Given the description of an element on the screen output the (x, y) to click on. 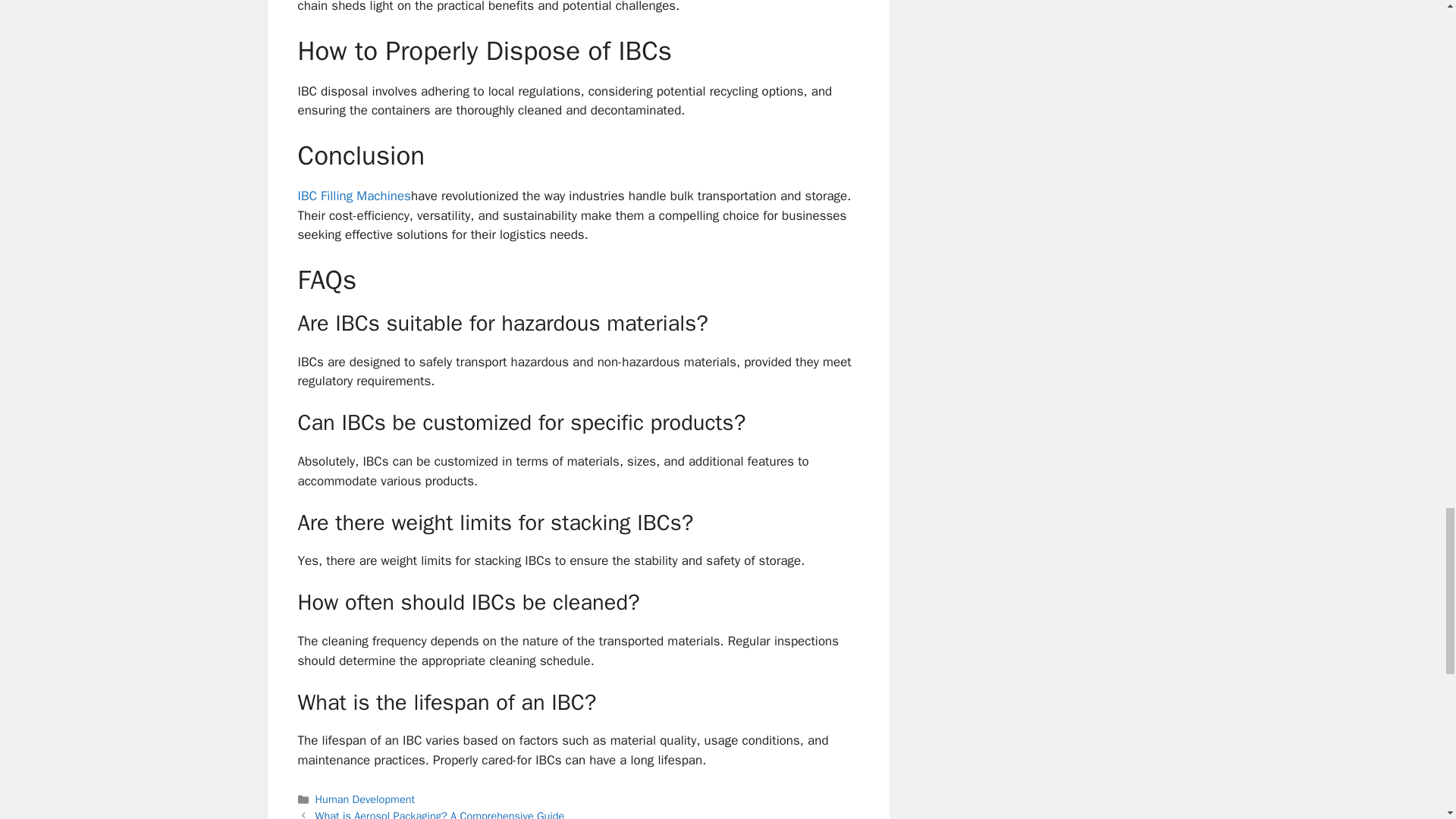
IBC Filling Machines (353, 195)
What is Aerosol Packaging? A Comprehensive Guide (439, 814)
Human Development (364, 798)
